Given the description of an element on the screen output the (x, y) to click on. 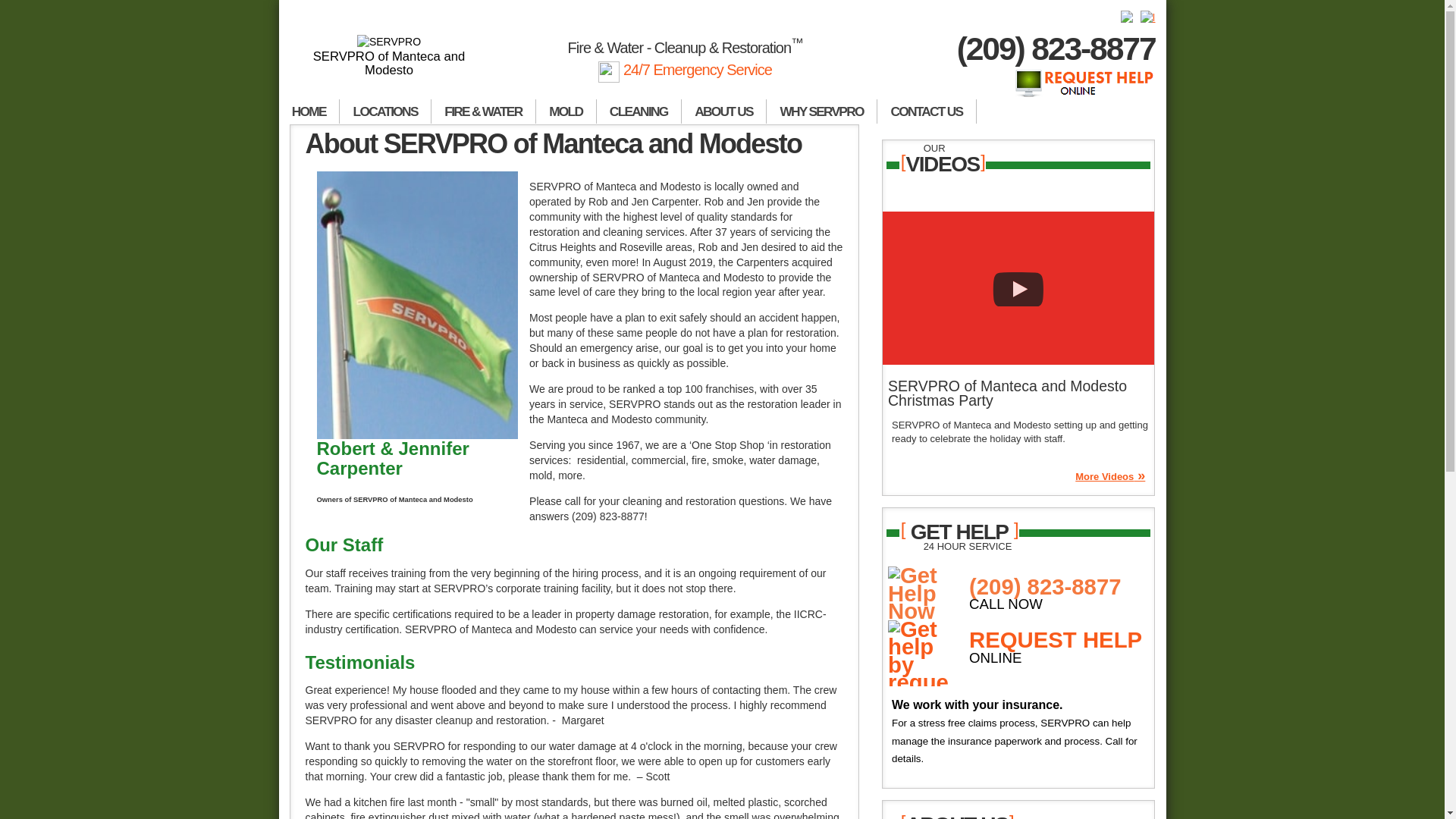
SERVPRO of Manteca and Modesto (389, 55)
LOCATIONS (384, 111)
CLEANING (638, 111)
ABOUT US (724, 111)
MOLD (565, 111)
HOME (309, 111)
